Given the description of an element on the screen output the (x, y) to click on. 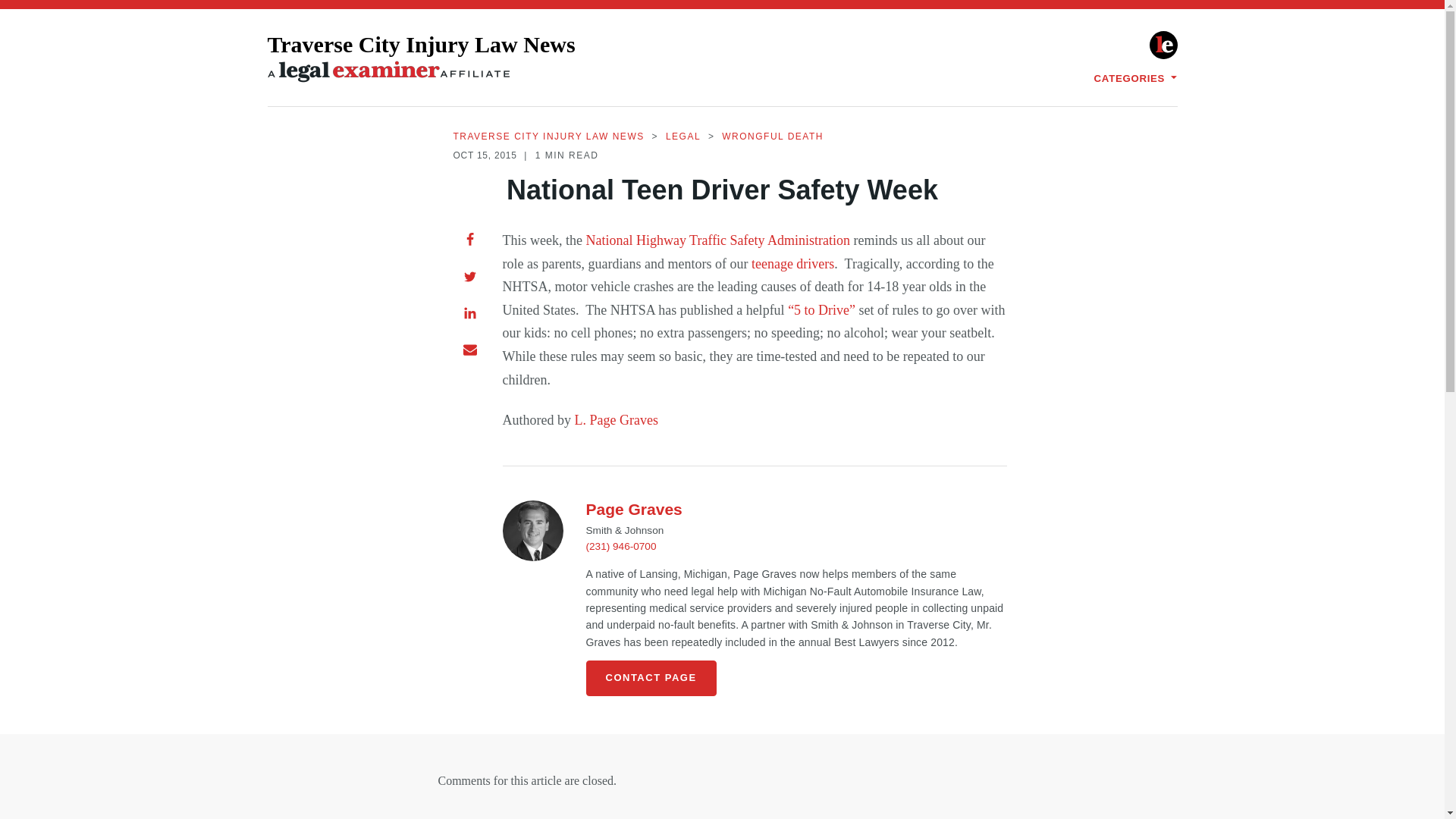
Traverse City Injury Law News (420, 57)
A Legal Examiner Affiliate (387, 71)
teenage drivers (792, 263)
Page Graves (633, 508)
CONTACT PAGE (650, 678)
L. Page Graves (615, 419)
TRAVERSE CITY INJURY LAW NEWS (548, 137)
WRONGFUL DEATH (773, 137)
National Highway Traffic Safety Administration (719, 240)
LEGAL (682, 137)
Page Graves (532, 530)
